Given the description of an element on the screen output the (x, y) to click on. 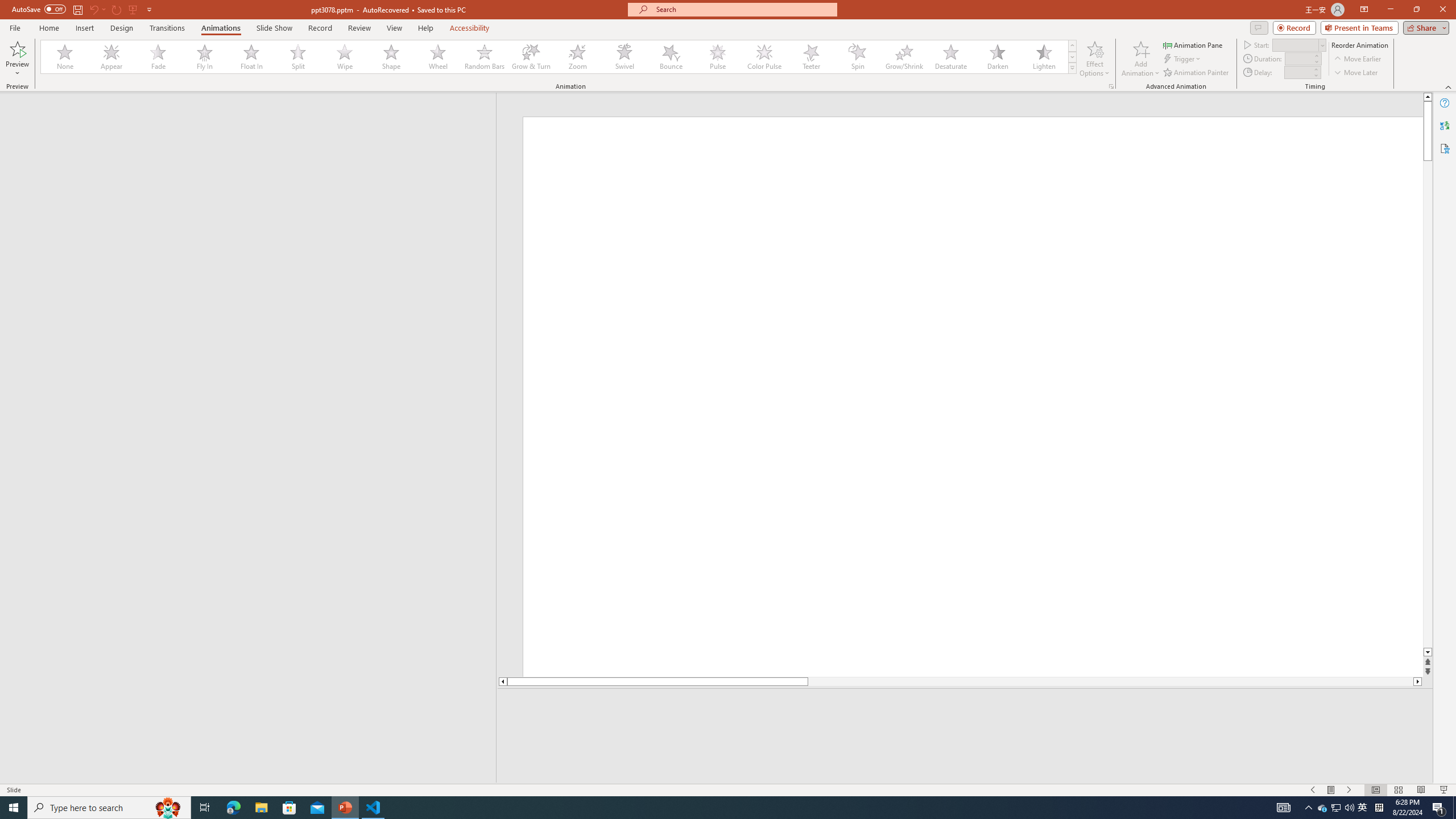
Split (298, 56)
Animation Delay (1297, 72)
Fade (158, 56)
Wheel (437, 56)
Shape (391, 56)
Animation Styles (1071, 67)
Spin (857, 56)
Lighten (1043, 56)
